Given the description of an element on the screen output the (x, y) to click on. 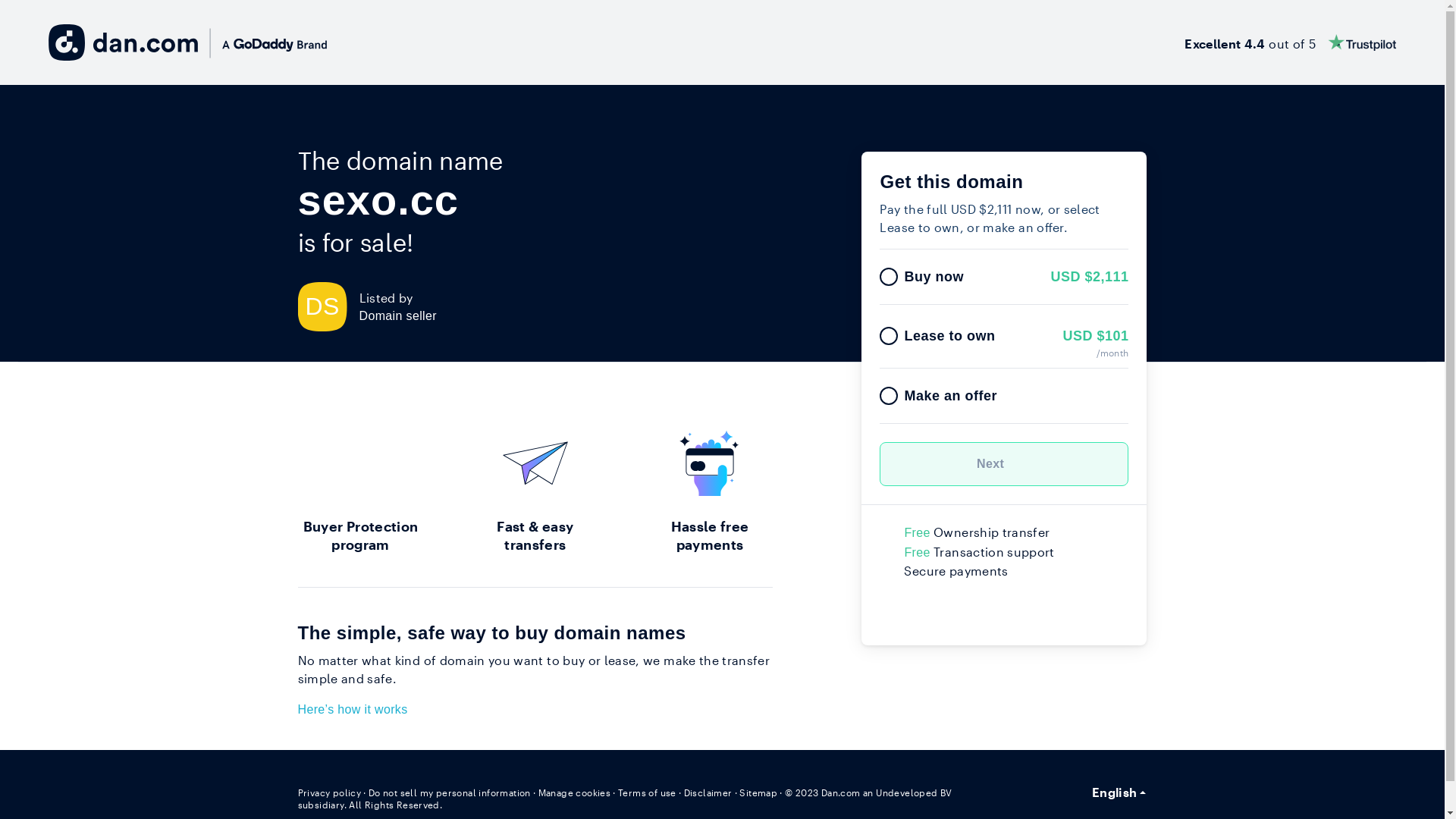
English Element type: text (1119, 792)
Disclaimer Element type: text (708, 792)
Sitemap Element type: text (758, 792)
Privacy policy Element type: text (328, 792)
Excellent 4.4 out of 5 Element type: text (1290, 42)
Terms of use Element type: text (647, 792)
Next
) Element type: text (1003, 464)
Manage cookies Element type: text (574, 792)
Do not sell my personal information Element type: text (449, 792)
